Given the description of an element on the screen output the (x, y) to click on. 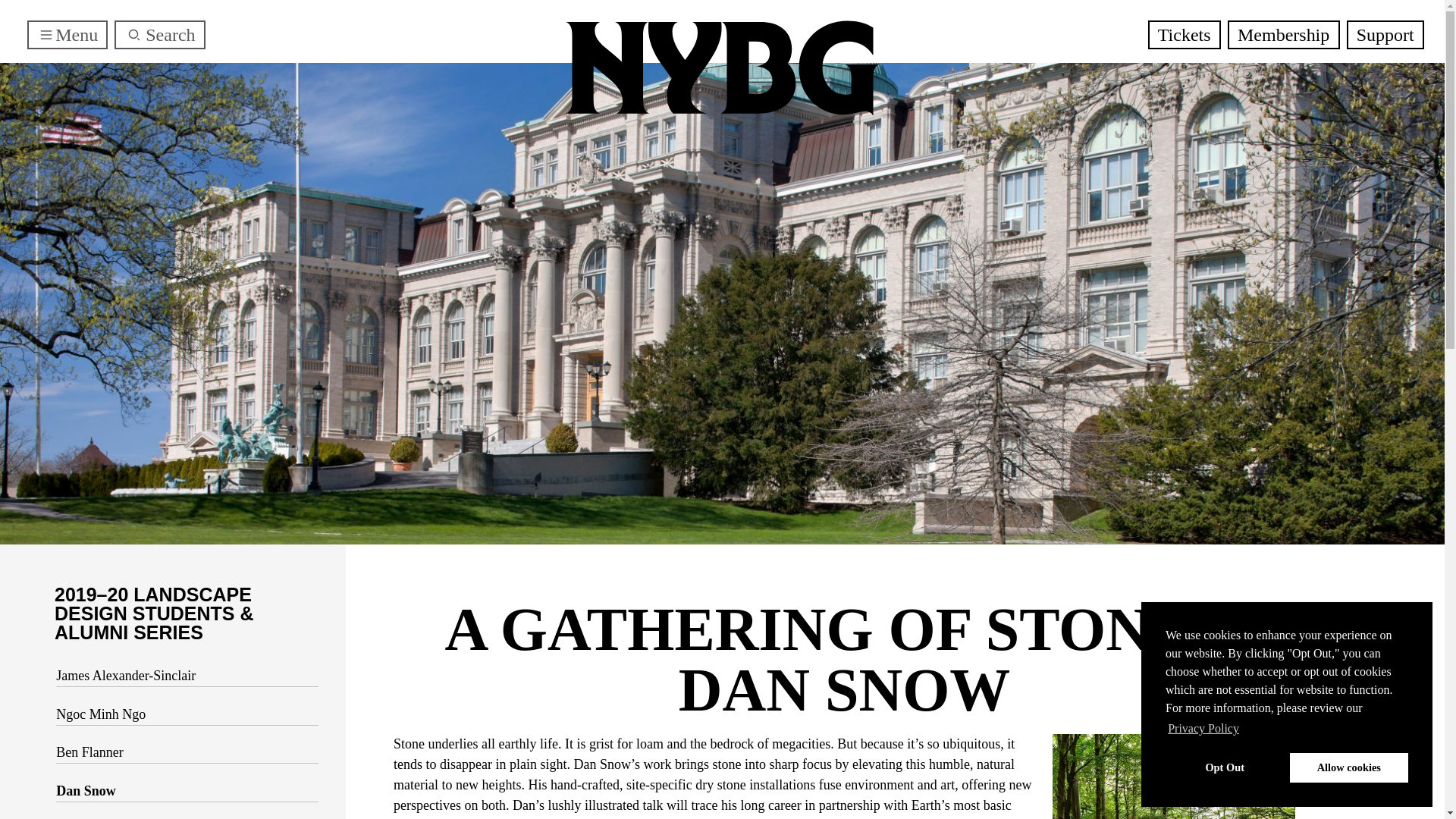
Tickets (1184, 34)
Membership (1283, 34)
Menu (67, 34)
Support (1384, 34)
Allow cookies (1348, 767)
Privacy Policy (1203, 728)
Opt Out (1225, 767)
